Given the description of an element on the screen output the (x, y) to click on. 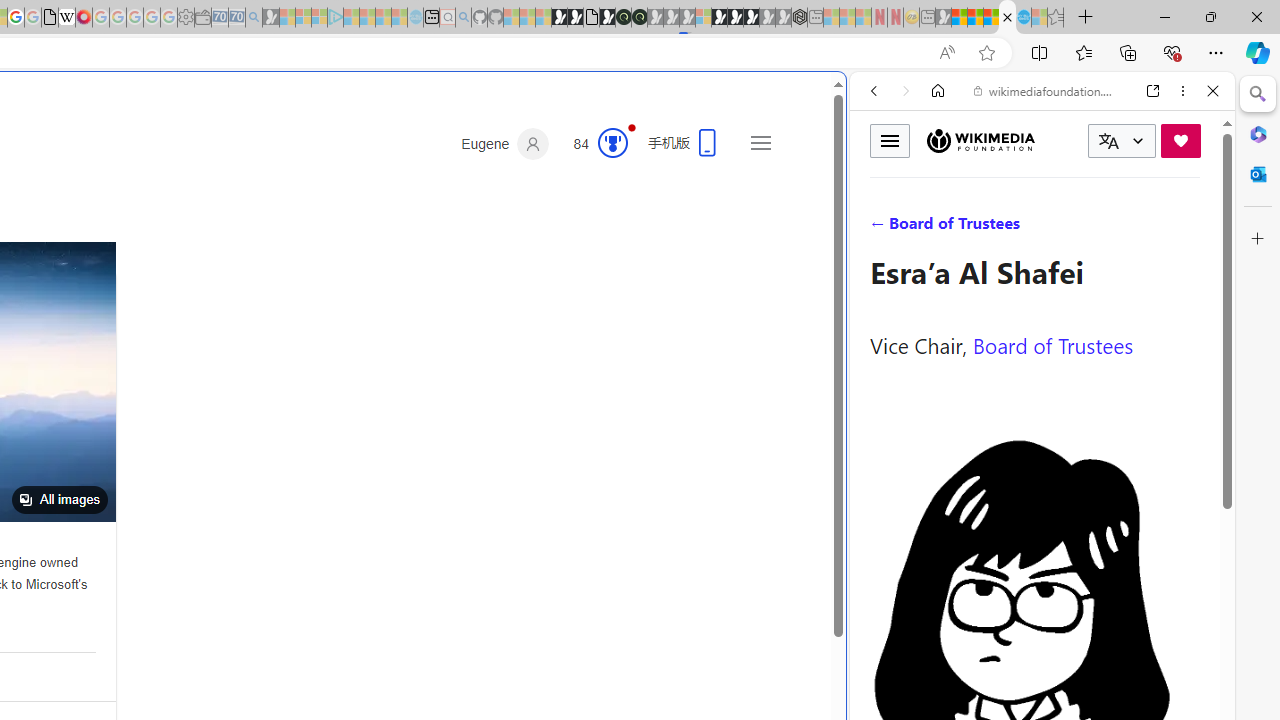
Bing AI - Search (1007, 17)
Tabs you've opened (276, 265)
wikimediafoundation.org (1045, 90)
CURRENT LANGUAGE: (1121, 141)
